Given the description of an element on the screen output the (x, y) to click on. 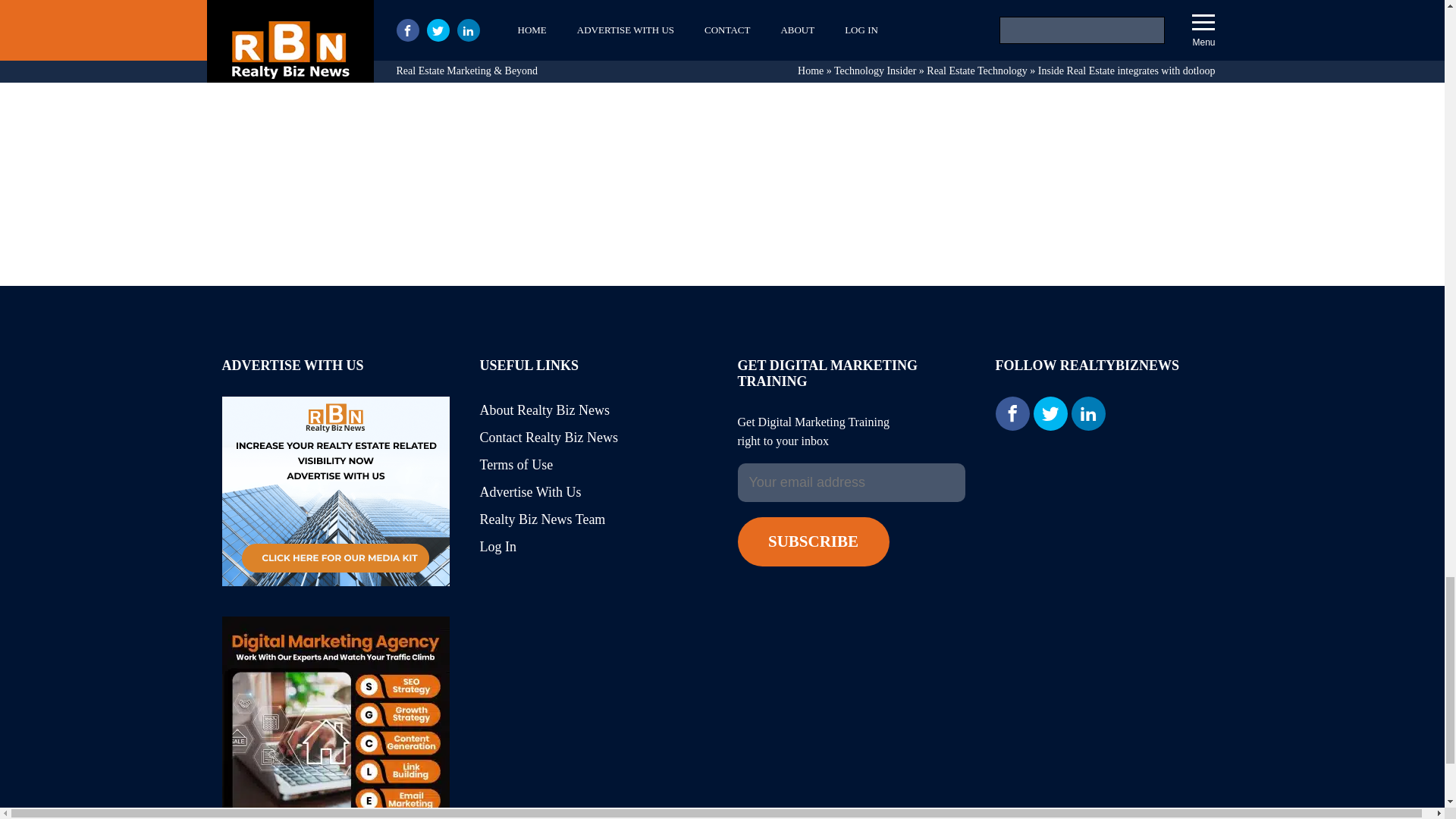
Subscribe (812, 541)
